Given the description of an element on the screen output the (x, y) to click on. 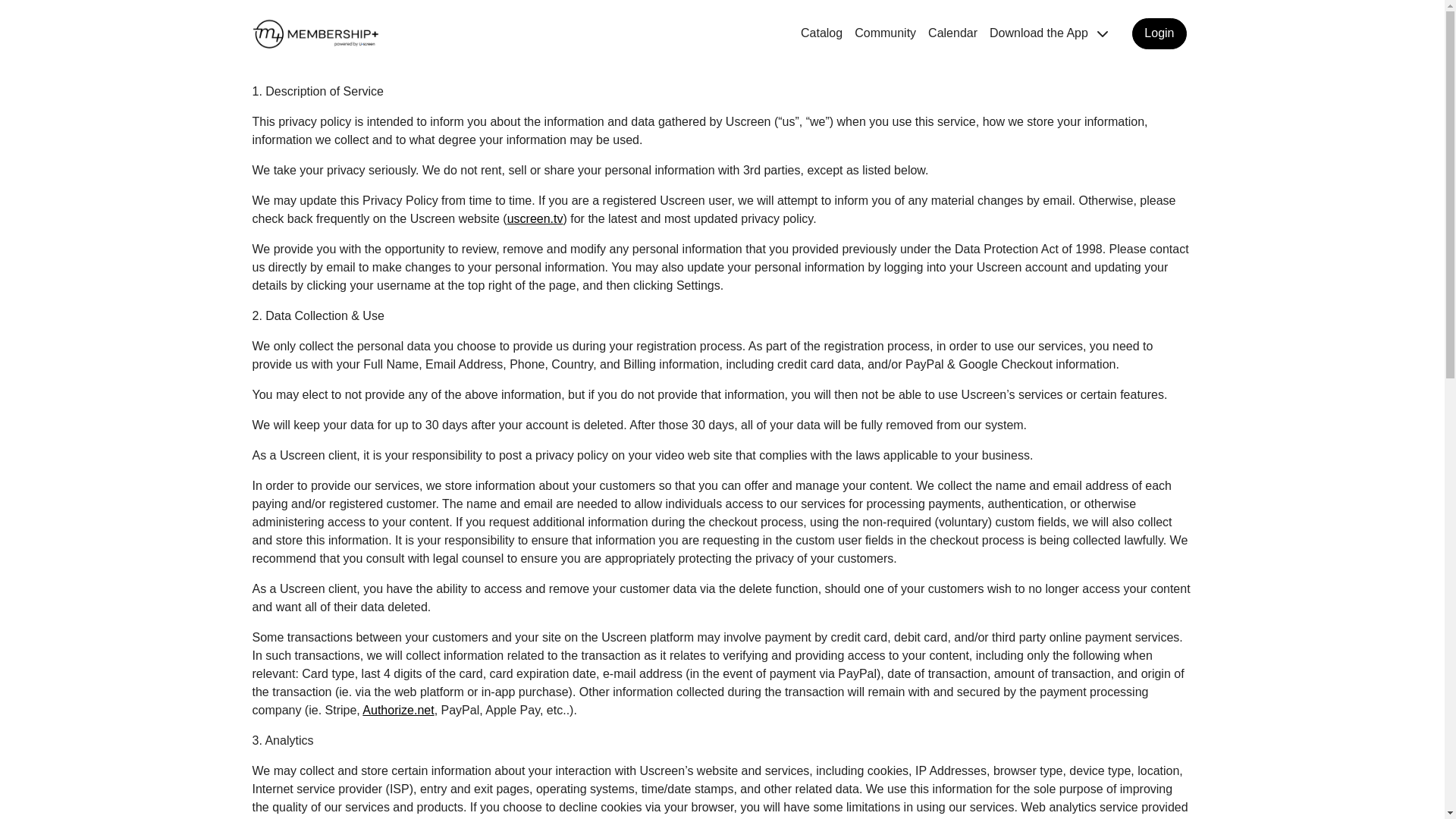
Catalog (821, 33)
uscreen.tv (534, 218)
Login (1159, 33)
Download the App (1049, 33)
Calendar (952, 33)
Authorize.net (397, 709)
Community (884, 33)
